Given the description of an element on the screen output the (x, y) to click on. 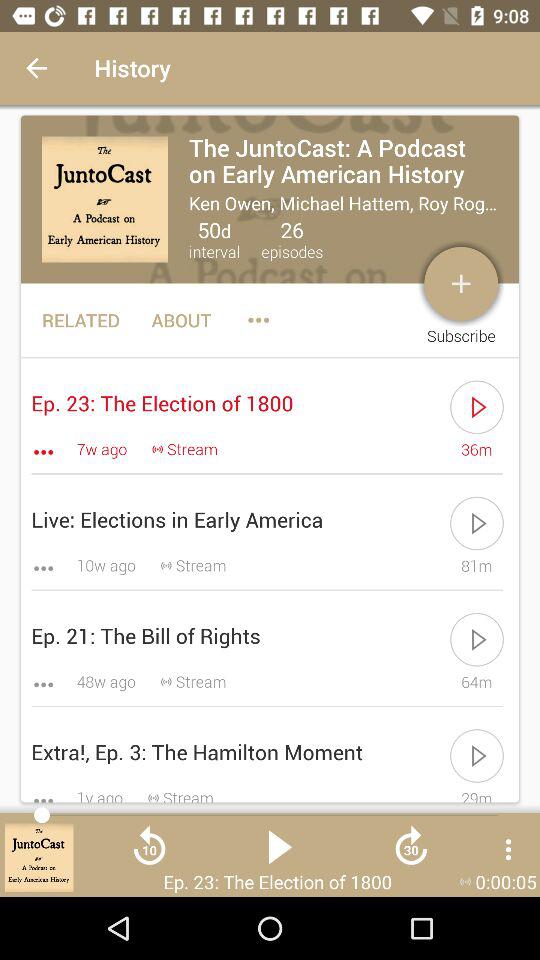
pause button (280, 854)
click on first option (269, 200)
icon right to the play button icon (411, 854)
select the symbol left to play button (149, 854)
click on the button which is below subscribe (477, 406)
